Given the description of an element on the screen output the (x, y) to click on. 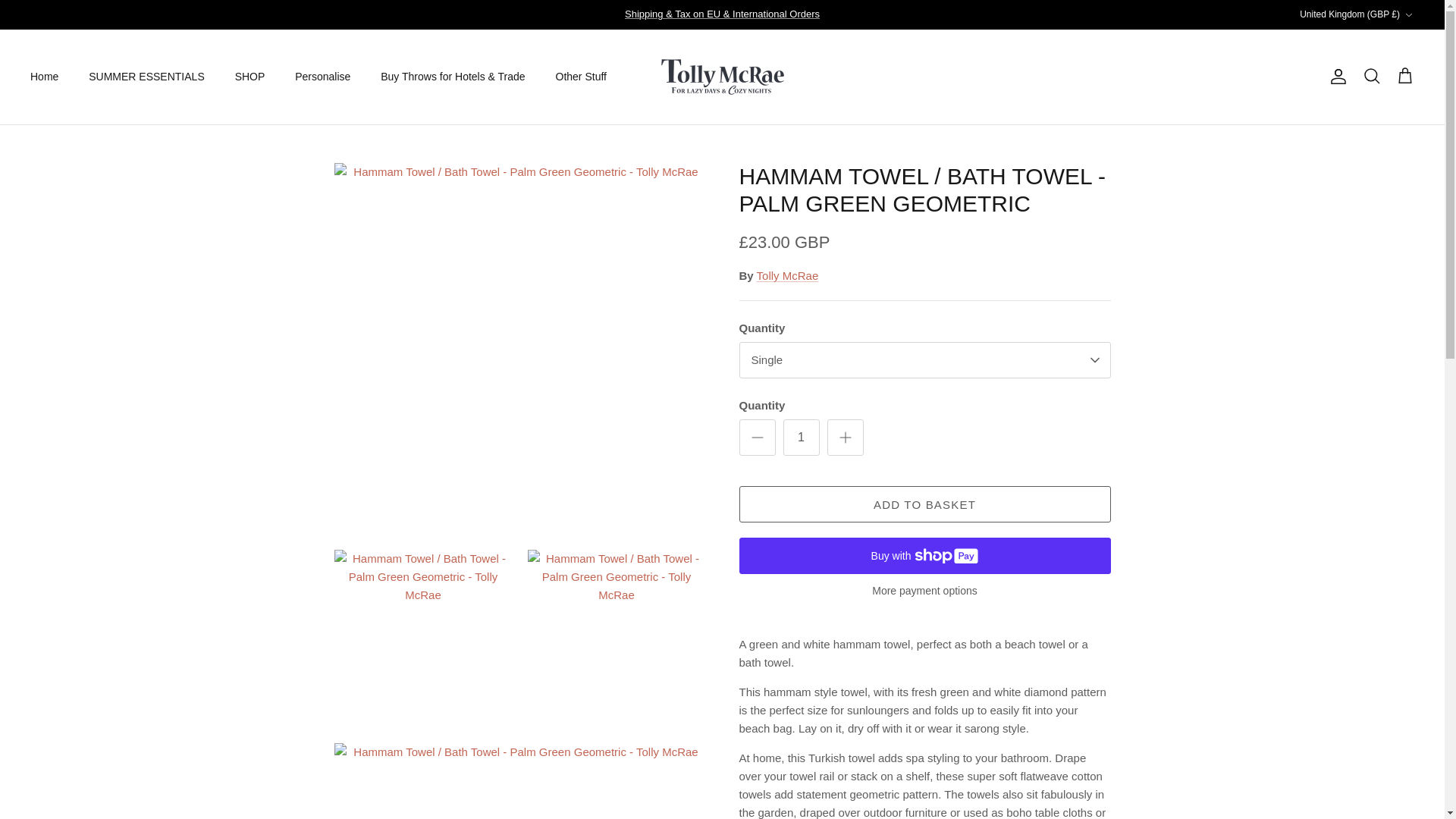
Tolly McRae Limited (722, 76)
1 (800, 437)
Minus (756, 437)
Down (1408, 14)
Plus (844, 437)
